Given the description of an element on the screen output the (x, y) to click on. 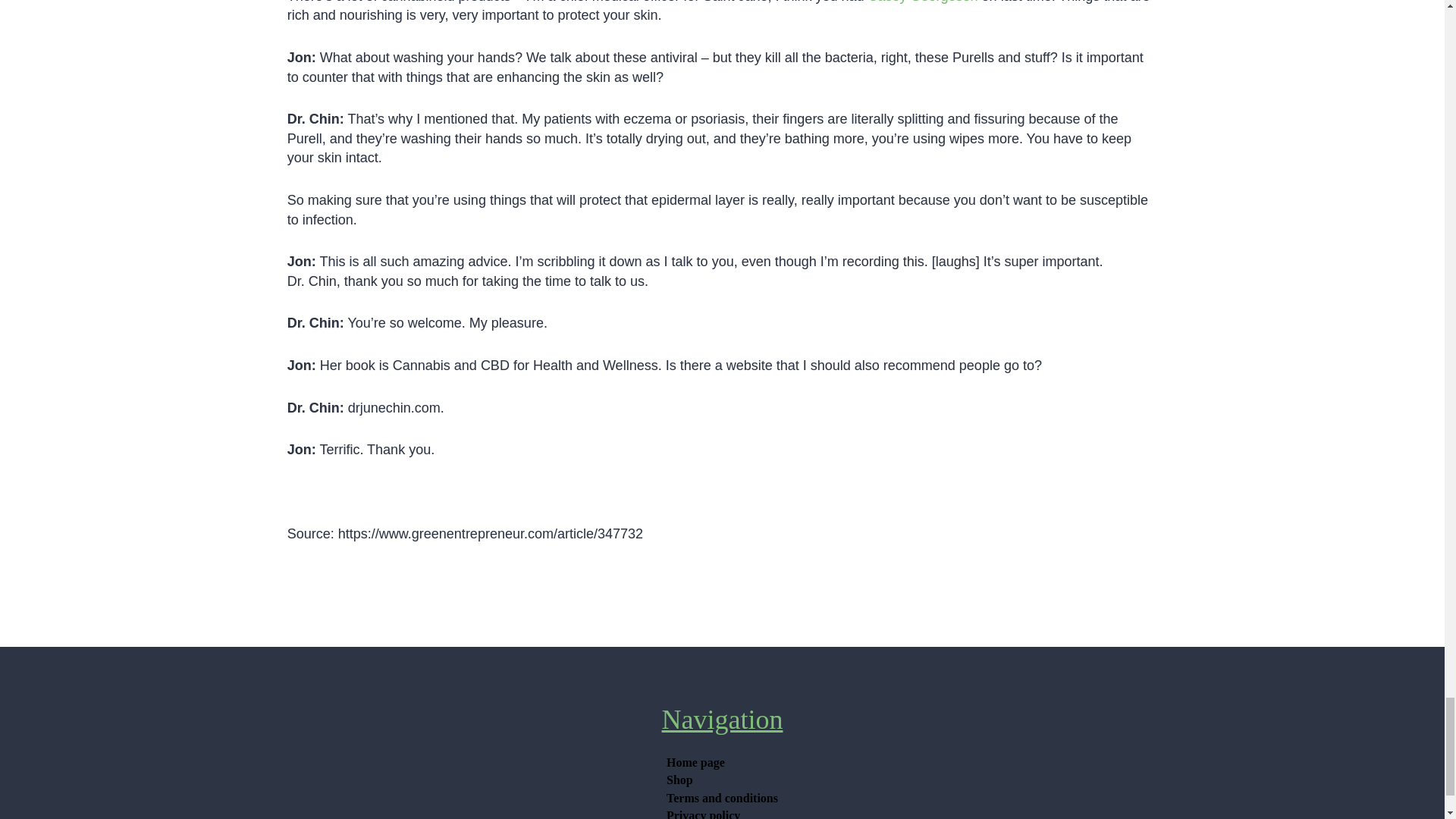
Shop (679, 780)
Privacy policy (703, 813)
Terms and conditions (722, 798)
Home page (695, 762)
Casey Georgeson (922, 2)
